Given the description of an element on the screen output the (x, y) to click on. 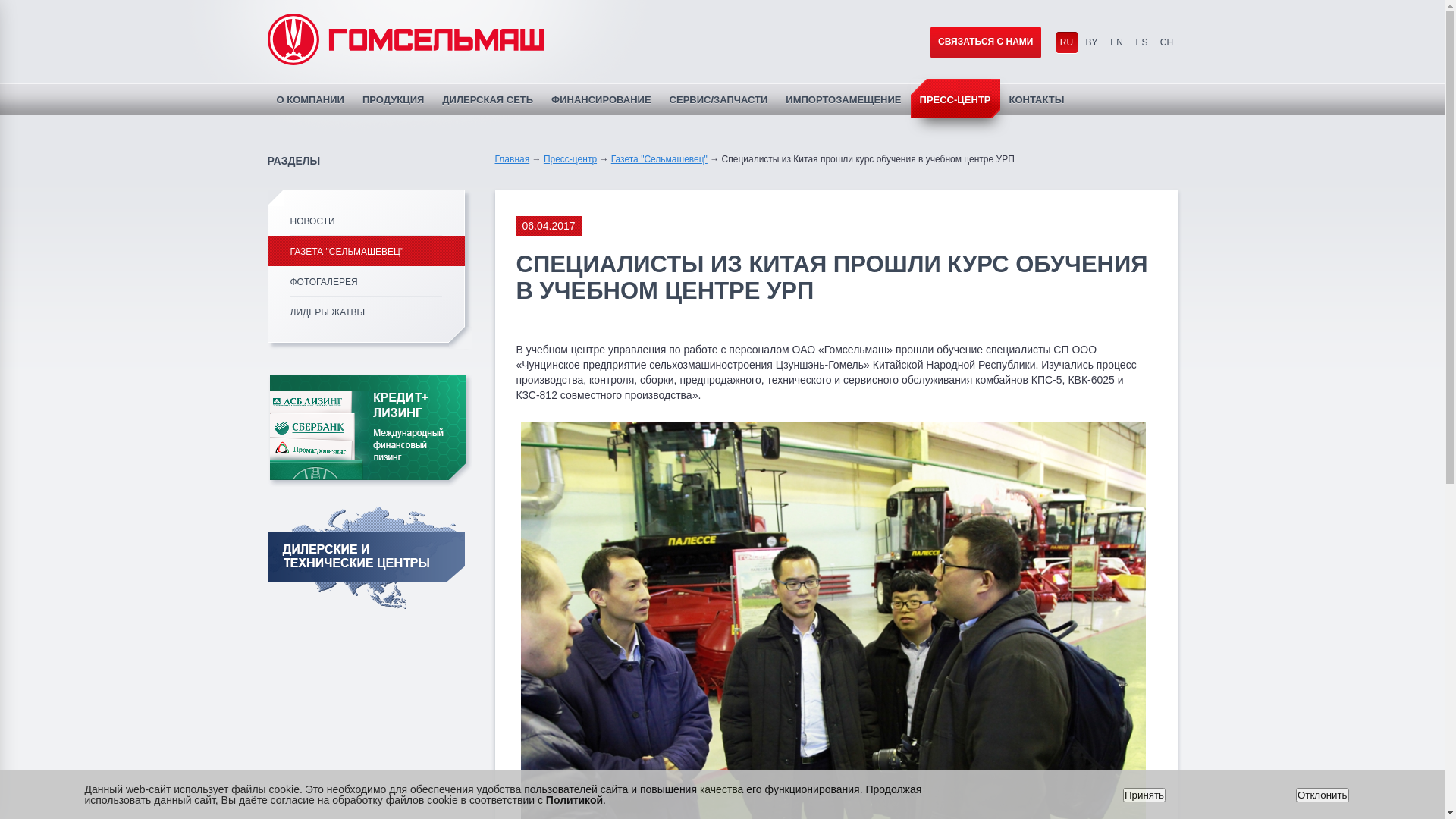
CH Element type: text (1165, 42)
BY Element type: text (1091, 42)
EN Element type: text (1115, 42)
RU Element type: text (1065, 42)
ES Element type: text (1141, 42)
